Given the description of an element on the screen output the (x, y) to click on. 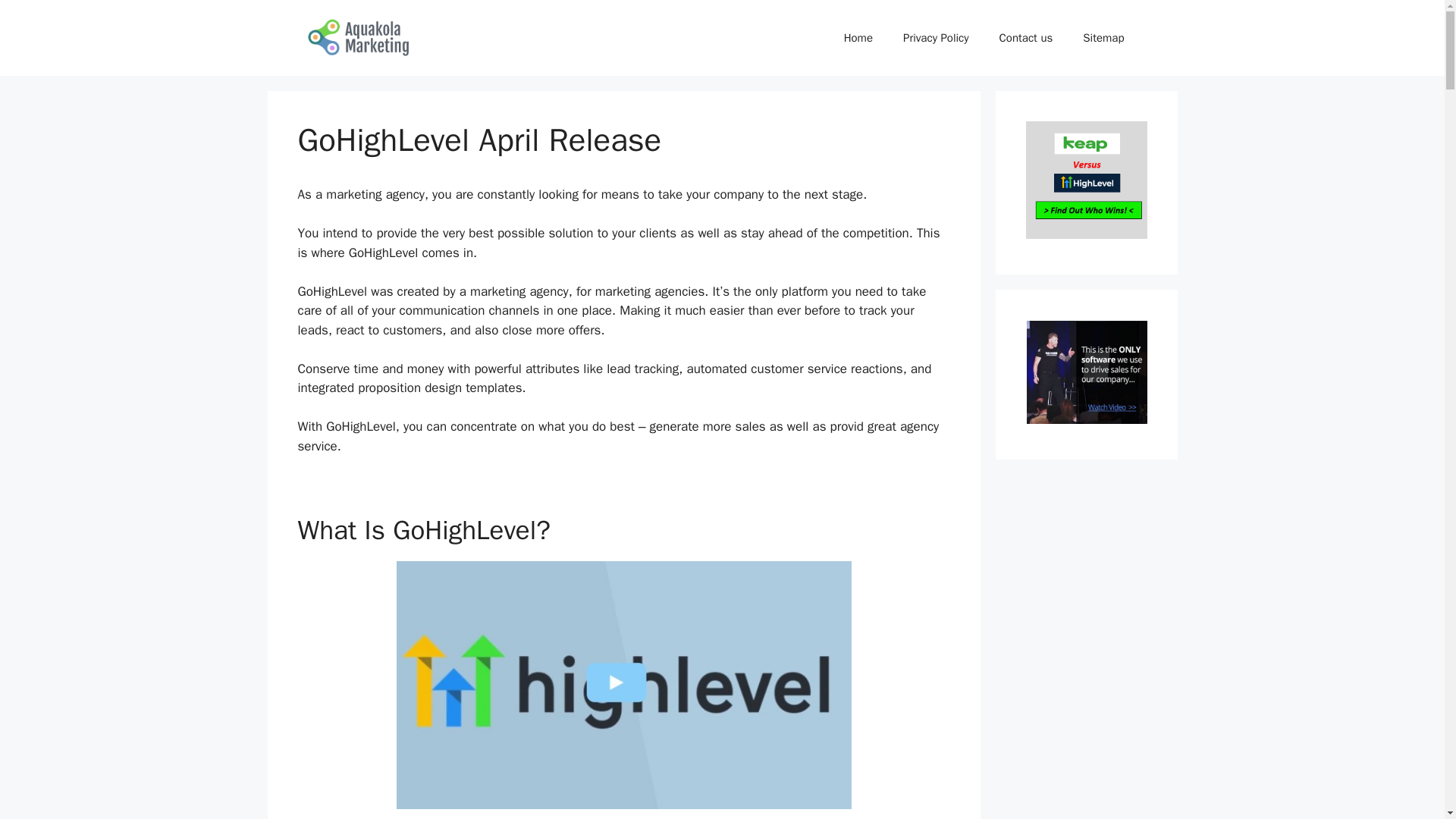
Sitemap (1102, 37)
Privacy Policy (936, 37)
Contact us (1026, 37)
Home (858, 37)
